Given the description of an element on the screen output the (x, y) to click on. 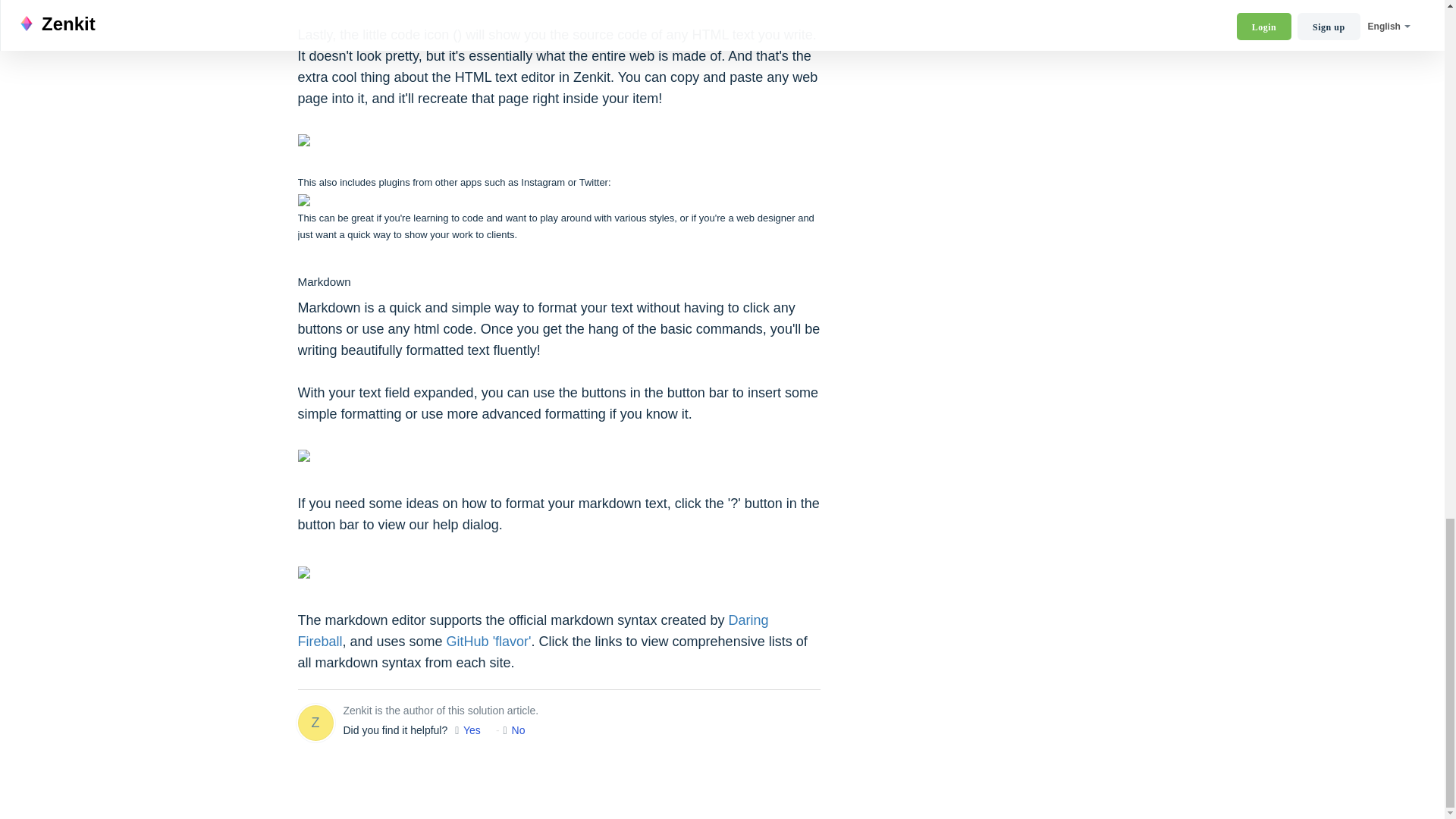
GitHub 'flavor' (488, 641)
Daring Fireball (532, 630)
